Given the description of an element on the screen output the (x, y) to click on. 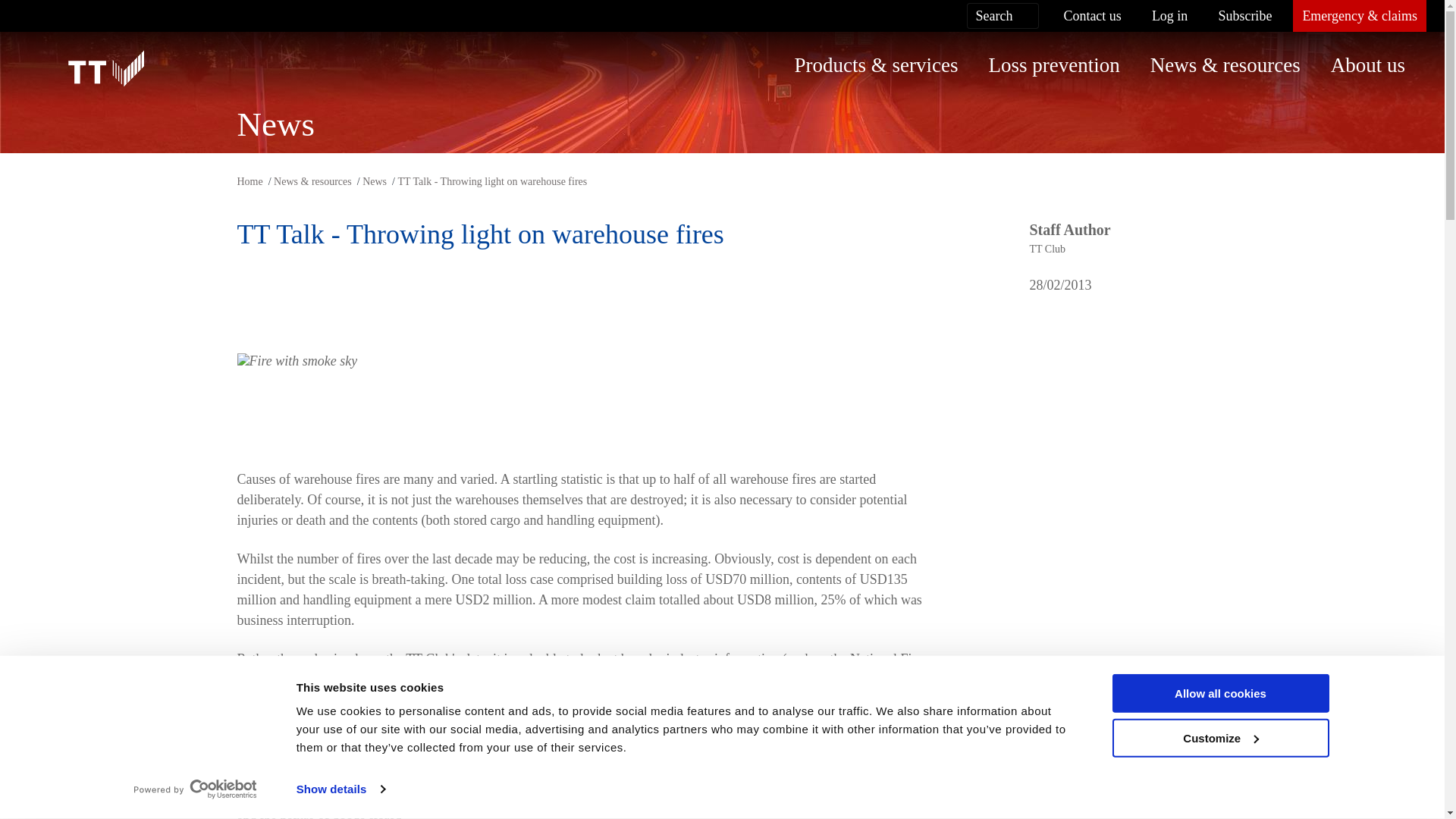
Show details (340, 789)
